Given the description of an element on the screen output the (x, y) to click on. 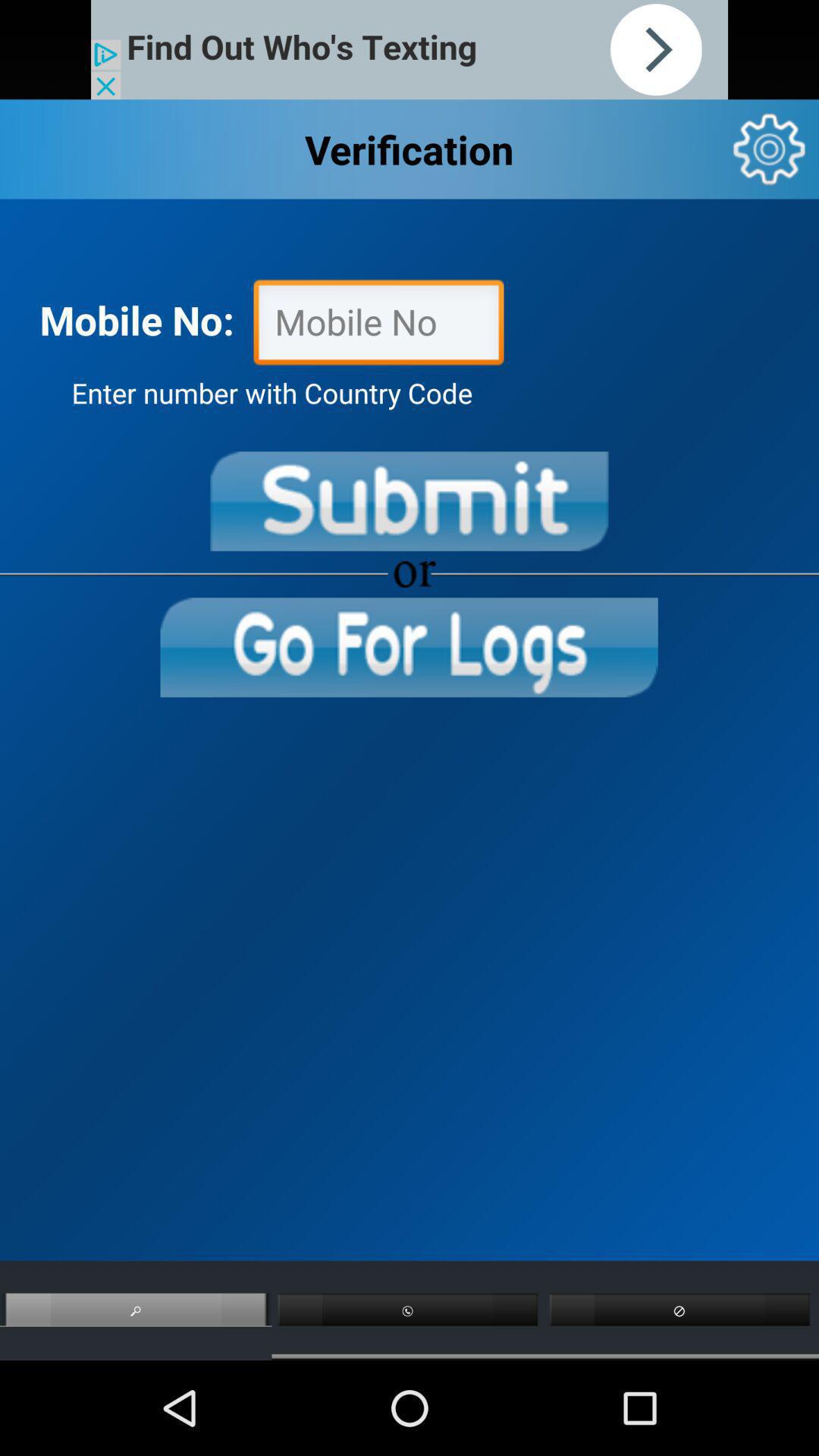
settings/options (769, 149)
